Given the description of an element on the screen output the (x, y) to click on. 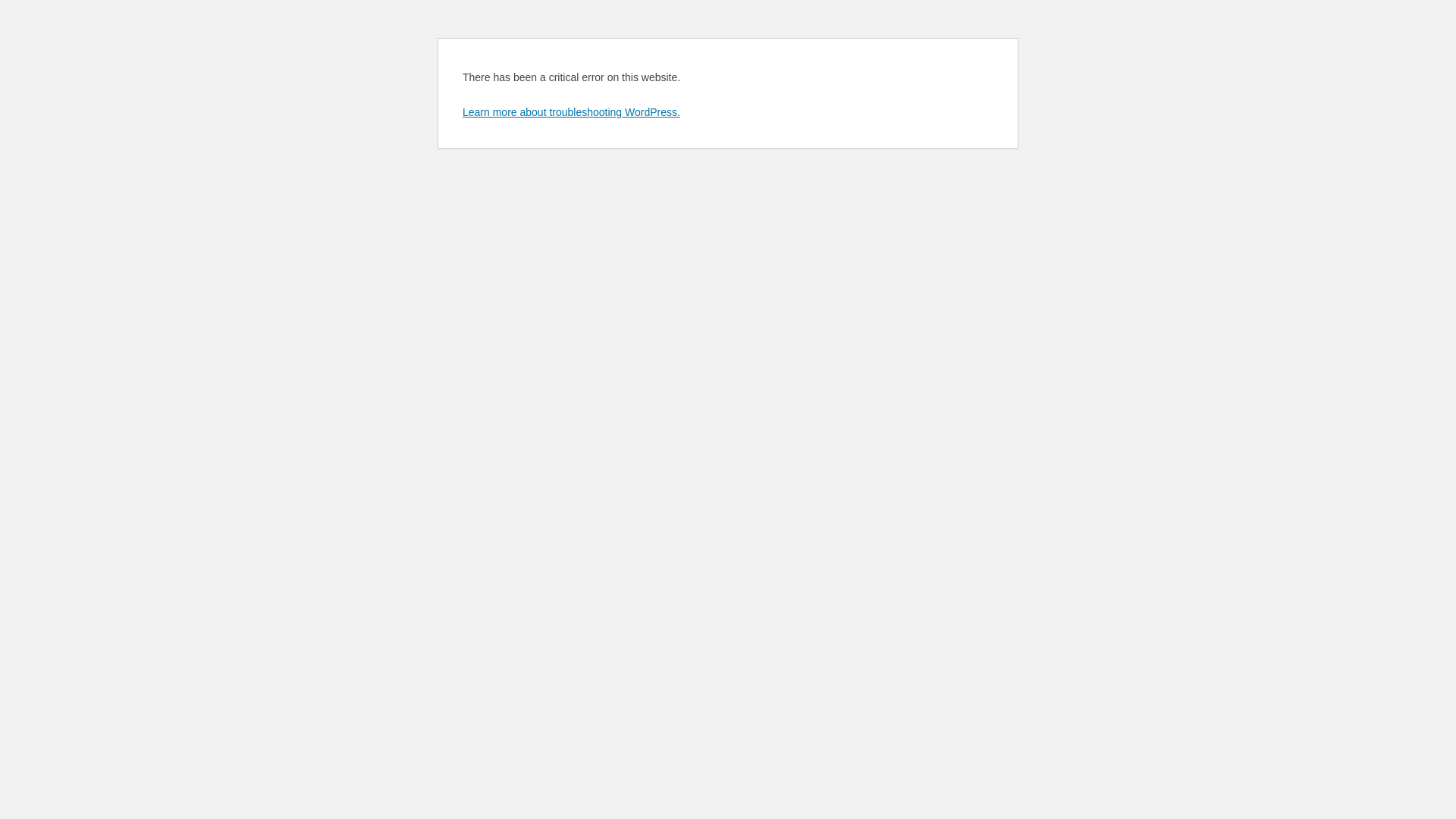
Learn more about troubleshooting WordPress. Element type: text (571, 112)
